Given the description of an element on the screen output the (x, y) to click on. 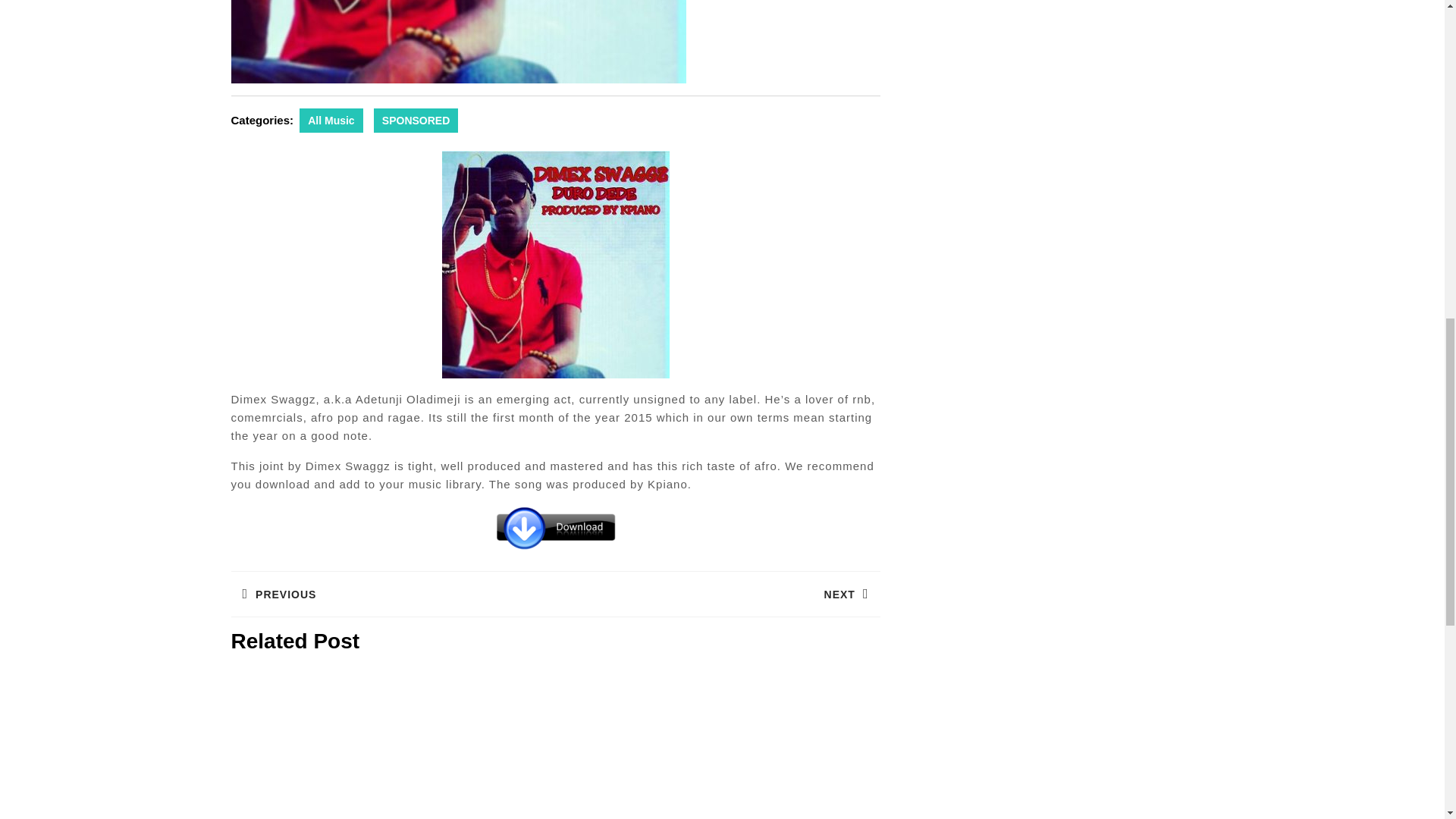
SPONSORED (416, 120)
All Music (392, 593)
